Given the description of an element on the screen output the (x, y) to click on. 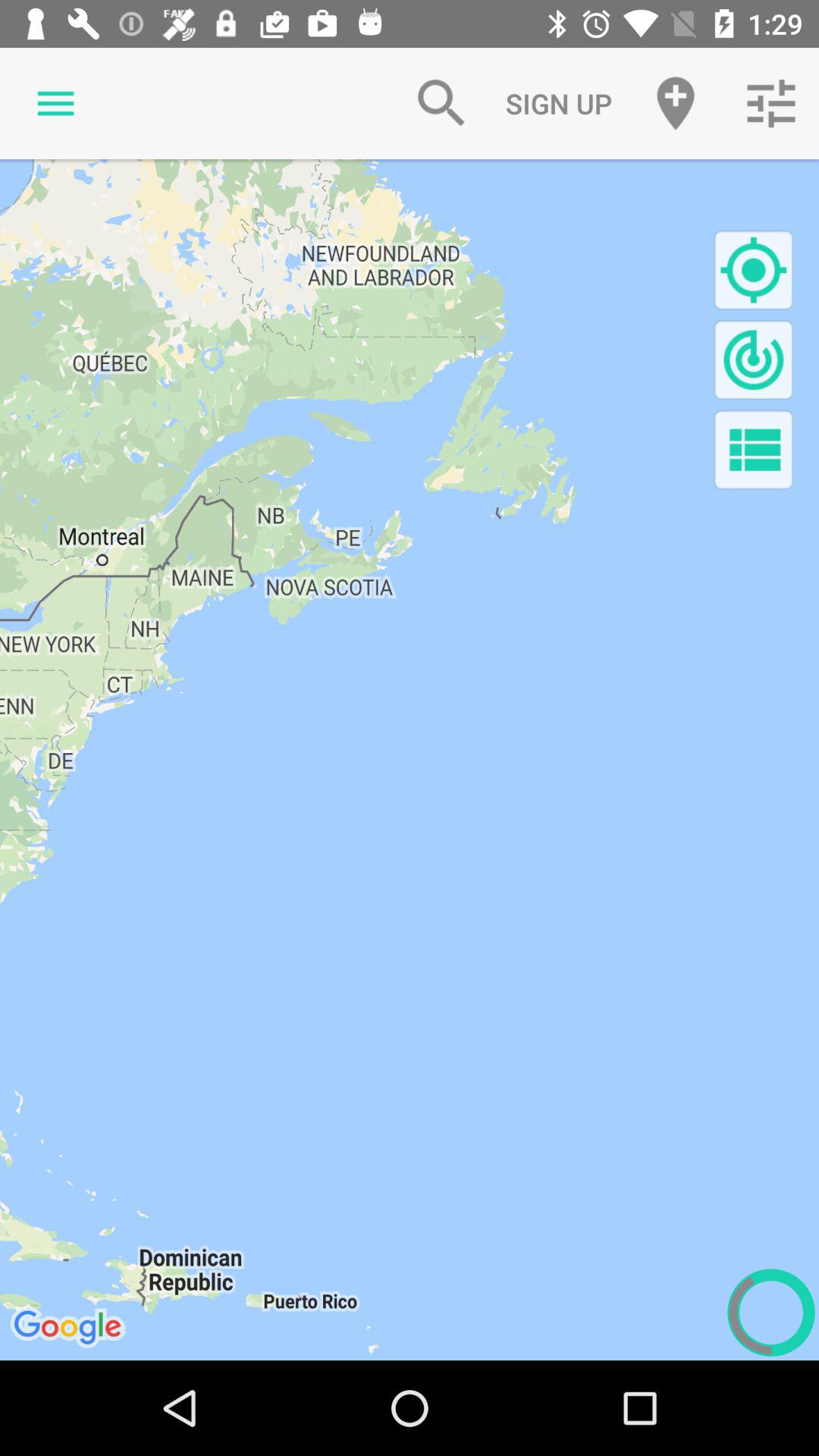
turn on the item next to the sign up item (441, 103)
